Given the description of an element on the screen output the (x, y) to click on. 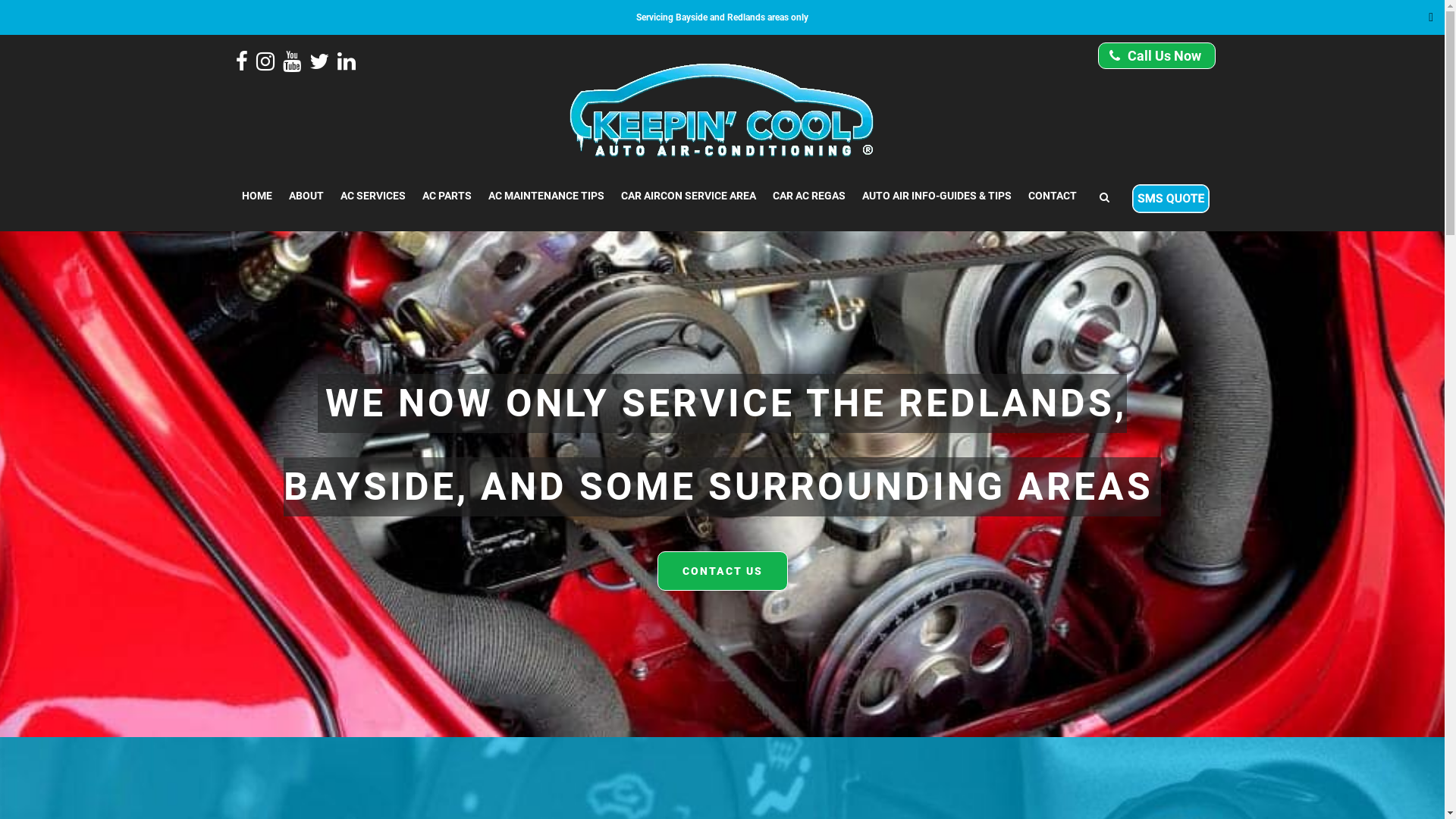
ABOUT Element type: text (306, 195)
CAR AC REGAS Element type: text (808, 195)
AC PARTS Element type: text (447, 195)
HOME Element type: text (256, 195)
AUTO AIR INFO-GUIDES & TIPS Element type: text (936, 195)
Call Us Now Element type: text (1156, 55)
CONTACT US Element type: text (721, 570)
AC SERVICES Element type: text (373, 195)
AC MAINTENANCE TIPS Element type: text (545, 195)
CAR AIRCON SERVICE AREA Element type: text (688, 195)
Search Element type: text (1173, 34)
CONTACT Element type: text (1051, 195)
